Given the description of an element on the screen output the (x, y) to click on. 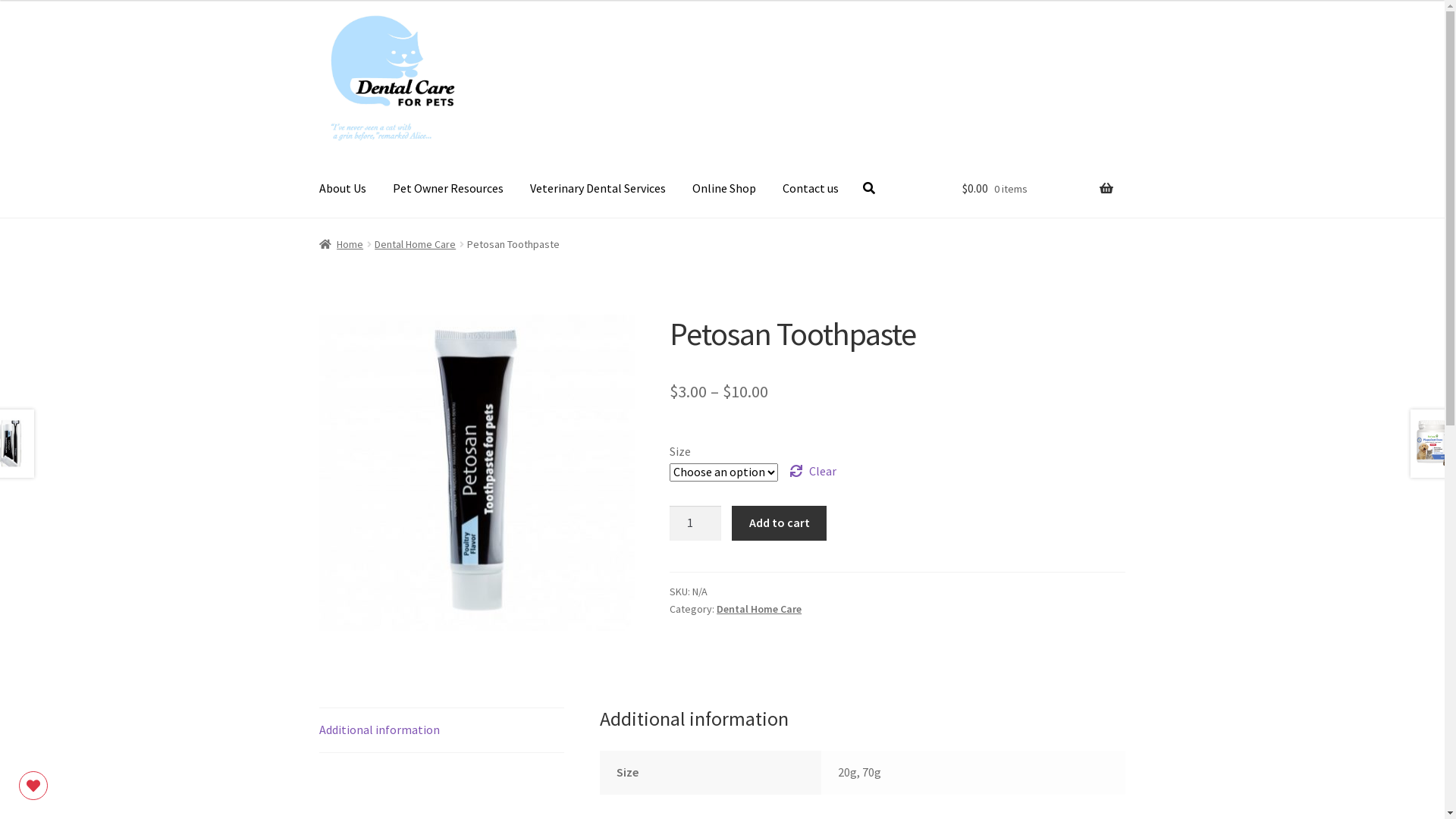
Home Element type: text (341, 244)
Dental Home Care Element type: text (758, 608)
Online Shop Element type: text (724, 188)
$0.00 0 items Element type: text (1037, 197)
About Us Element type: text (342, 188)
Contact us Element type: text (810, 188)
Add to cart Element type: text (778, 522)
Additional information Element type: text (441, 730)
Dental Home Care Element type: text (414, 244)
Clear Element type: text (813, 471)
Search Element type: text (35, 9)
Skip to navigation Element type: text (318, 11)
Petosan-toothpaste450X450 Element type: hover (476, 472)
Pet Owner Resources Element type: text (447, 188)
Veterinary Dental Services Element type: text (597, 188)
